Given the description of an element on the screen output the (x, y) to click on. 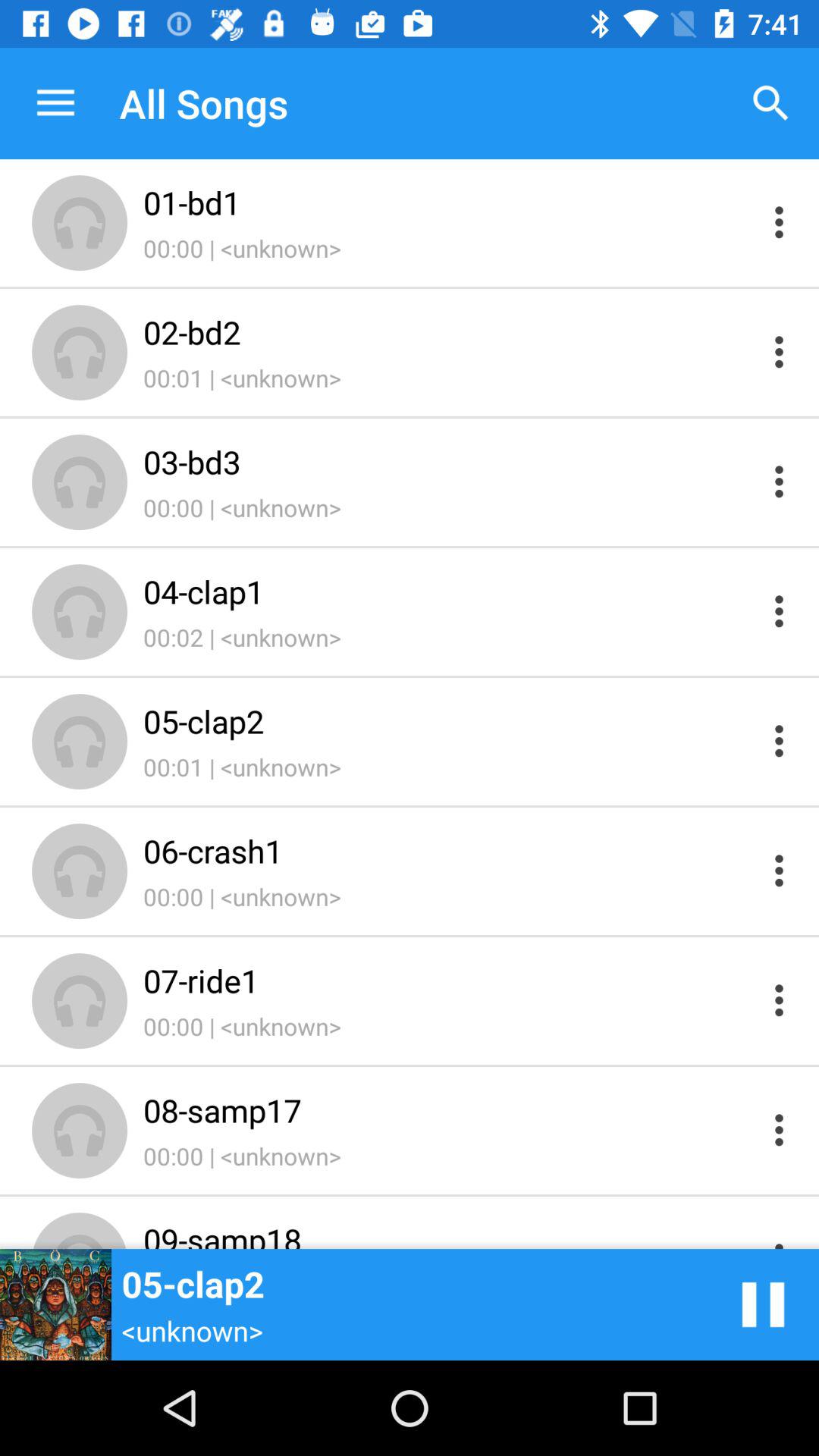
tr\ck options (779, 1233)
